Given the description of an element on the screen output the (x, y) to click on. 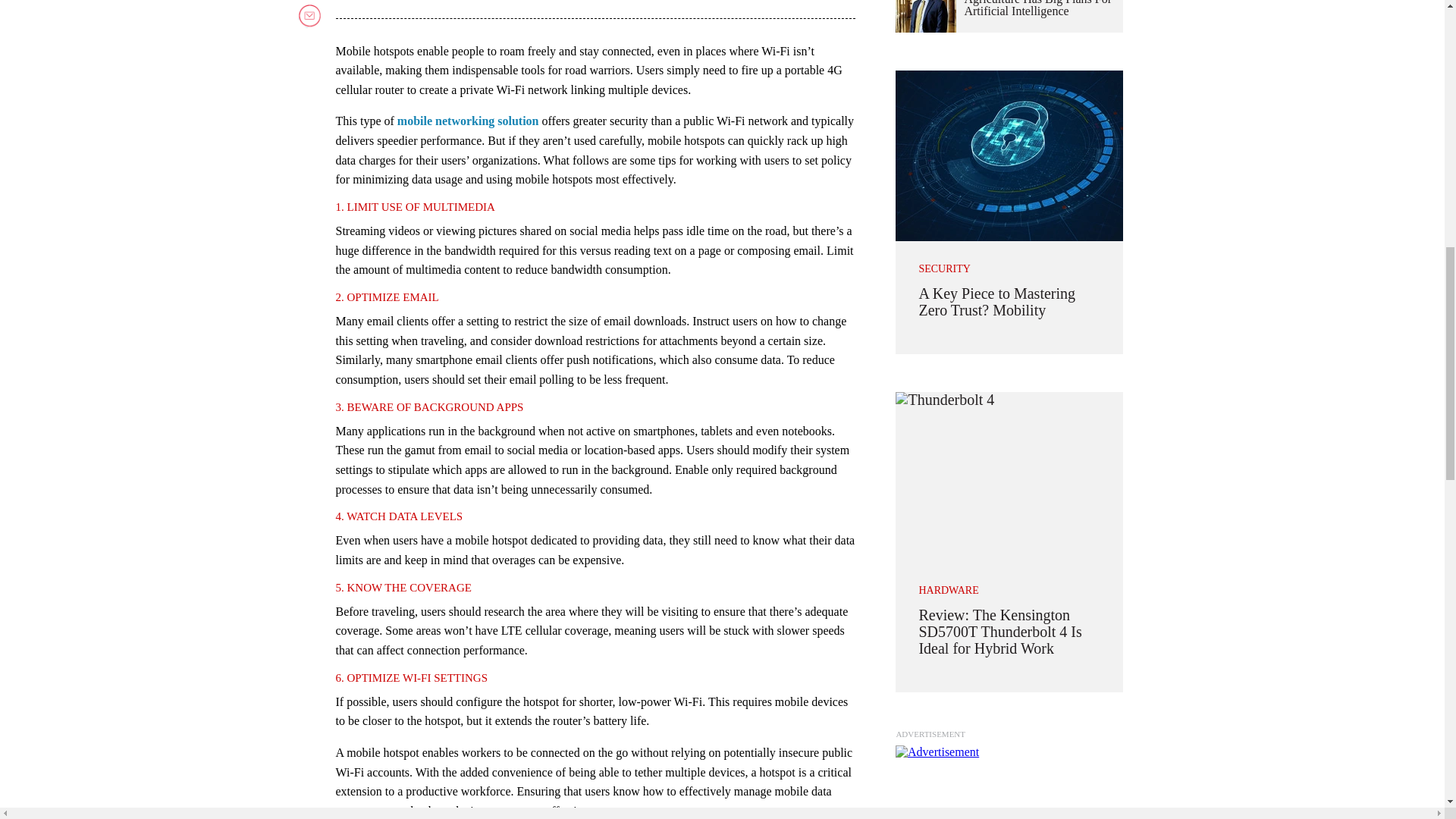
advertisement (1008, 782)
